Given the description of an element on the screen output the (x, y) to click on. 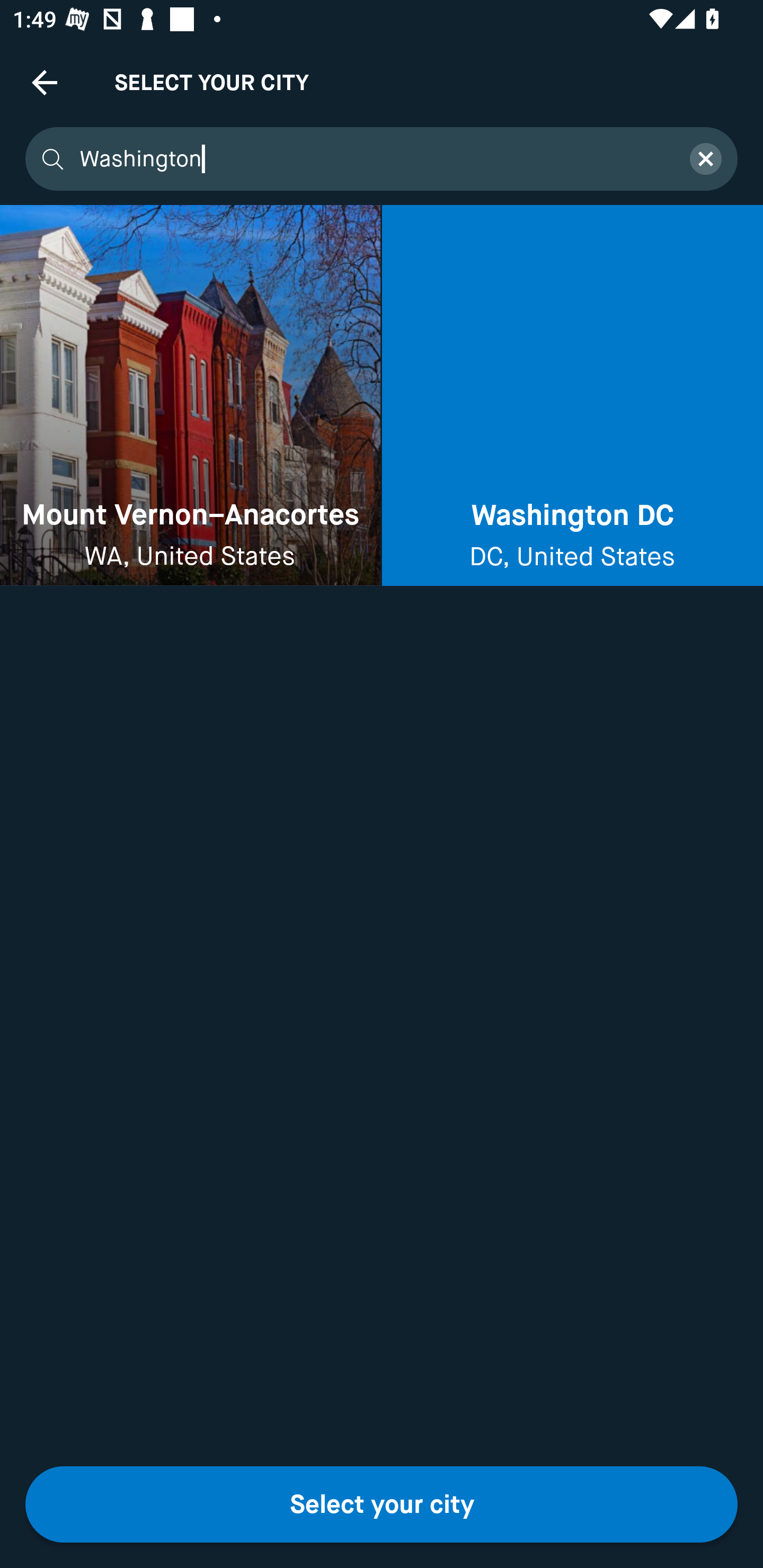
Navigate up (44, 82)
Washington (373, 159)
Mount Vernon–Anacortes WA, United States (190, 395)
Washington DC DC, United States (572, 395)
Select your city (381, 1504)
